Given the description of an element on the screen output the (x, y) to click on. 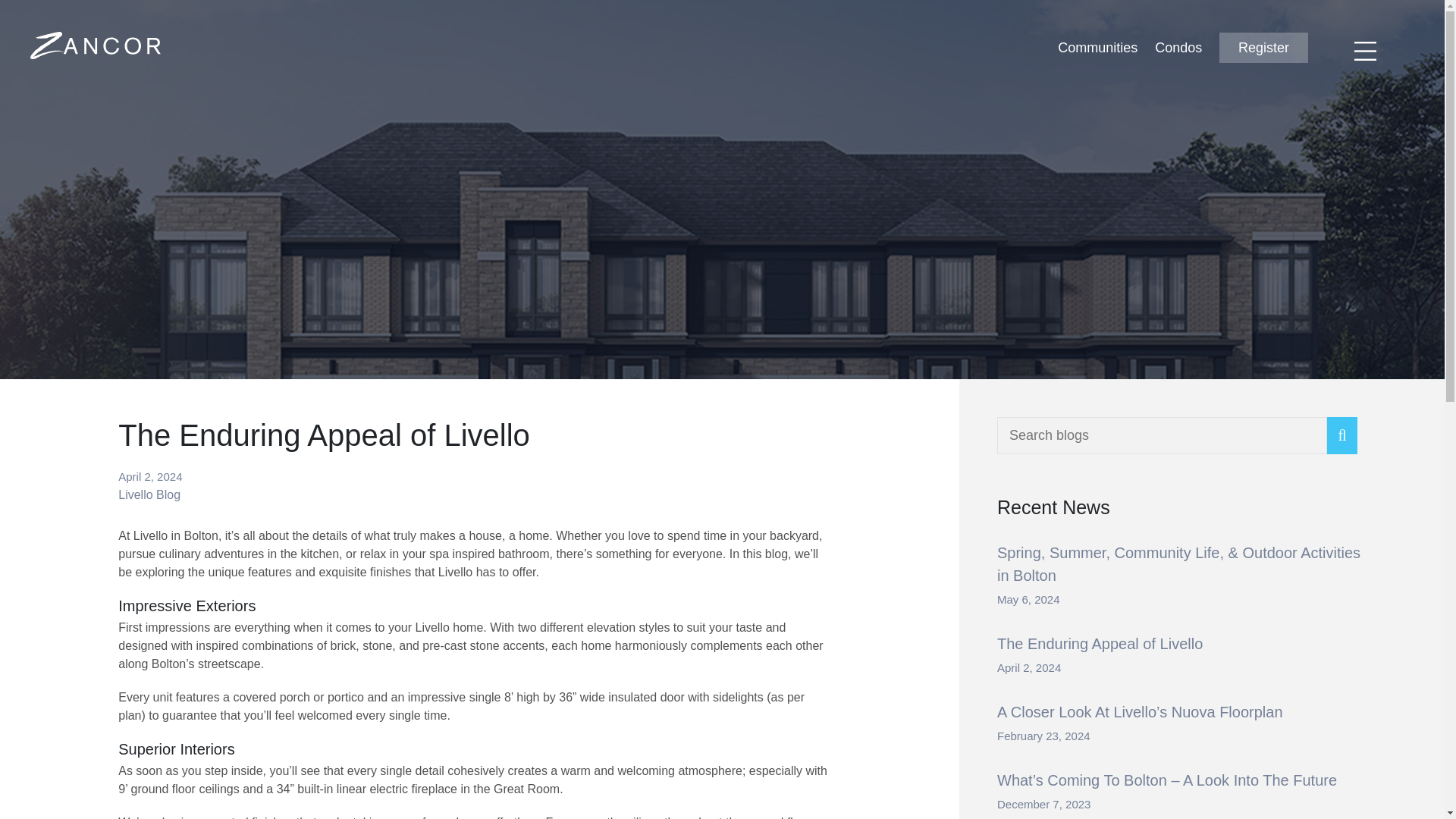
Communities (1097, 47)
Livello Blog (148, 494)
Condos (1178, 47)
Register (1263, 47)
The Enduring Appeal of Livello (1099, 643)
